Given the description of an element on the screen output the (x, y) to click on. 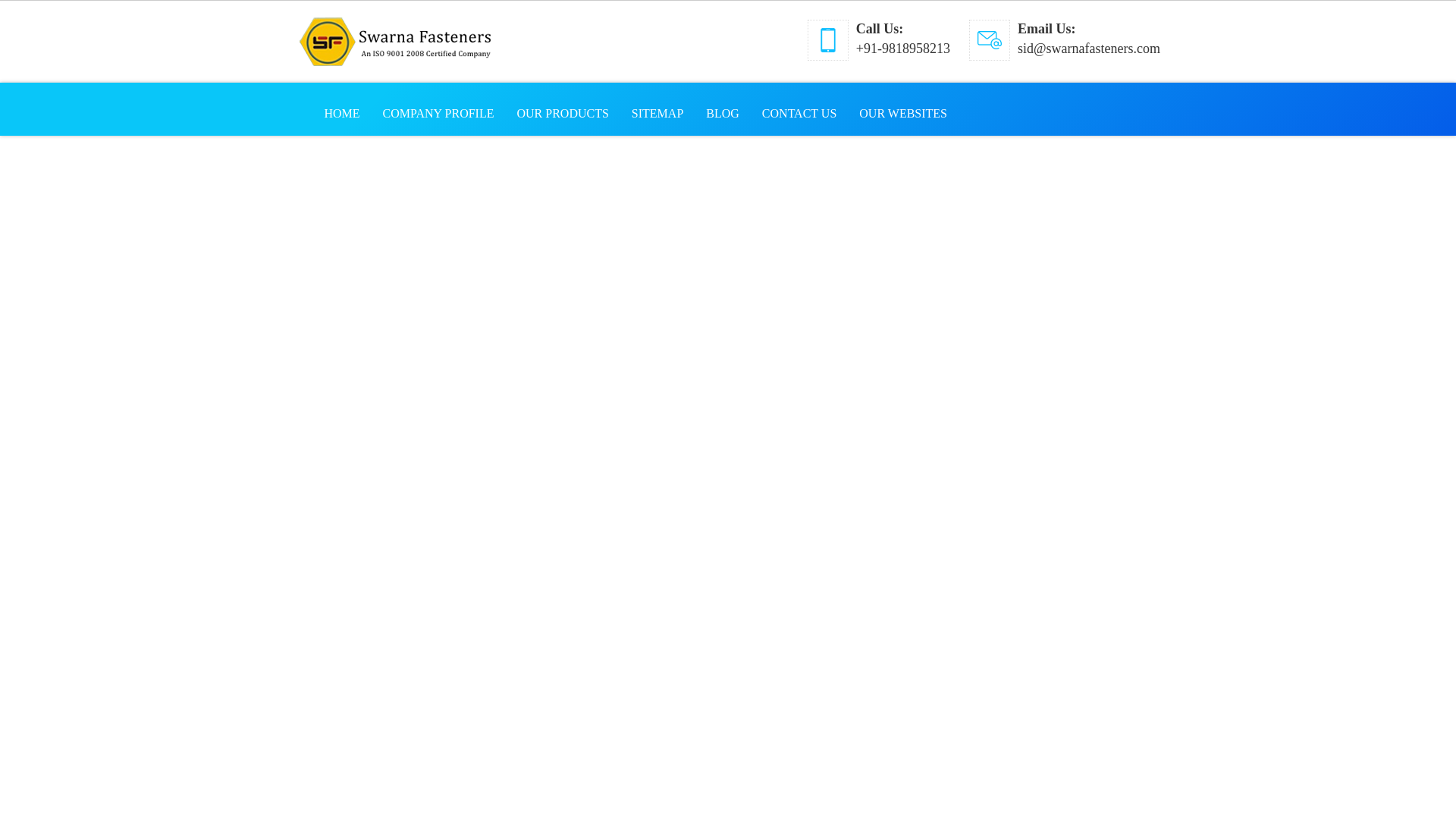
Email (988, 39)
Phone No (827, 39)
Swarna Fasteners (395, 41)
Email Id (1088, 48)
Phone No (903, 48)
